Given the description of an element on the screen output the (x, y) to click on. 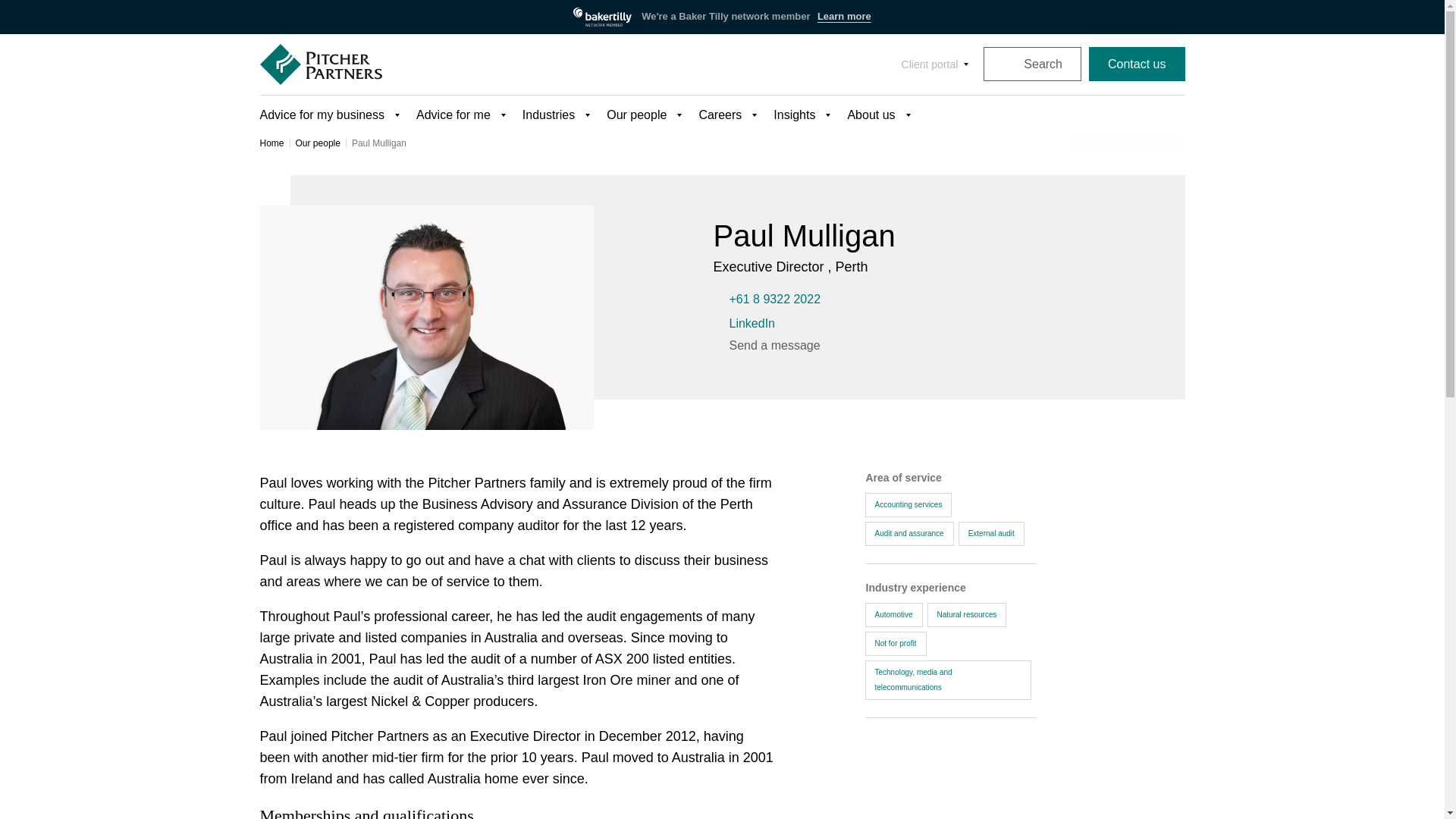
Learn more (843, 16)
